Given the description of an element on the screen output the (x, y) to click on. 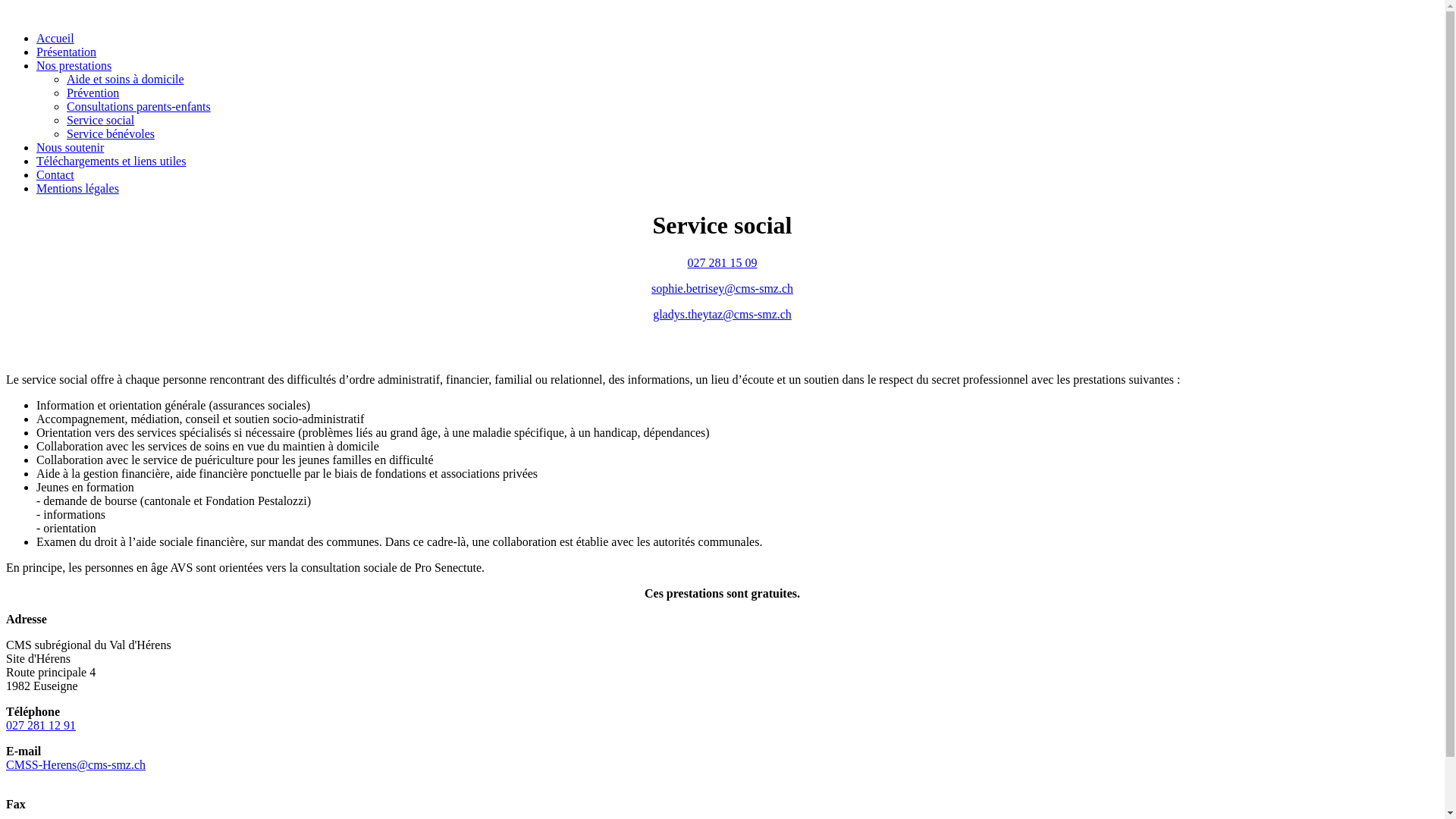
027 281 12 91 Element type: text (40, 724)
027 281 15 09 Element type: text (721, 262)
Contact Element type: text (55, 174)
Service social Element type: text (100, 119)
Accueil Element type: text (55, 37)
Consultations parents-enfants Element type: text (138, 106)
CMSS-Herens@cms-smz.ch Element type: text (75, 764)
sophie.betrisey@cms-smz.ch Element type: text (722, 288)
Nous soutenir Element type: text (69, 147)
gladys.theytaz@cms-smz.ch Element type: text (721, 313)
Nos prestations Element type: text (73, 65)
